Given the description of an element on the screen output the (x, y) to click on. 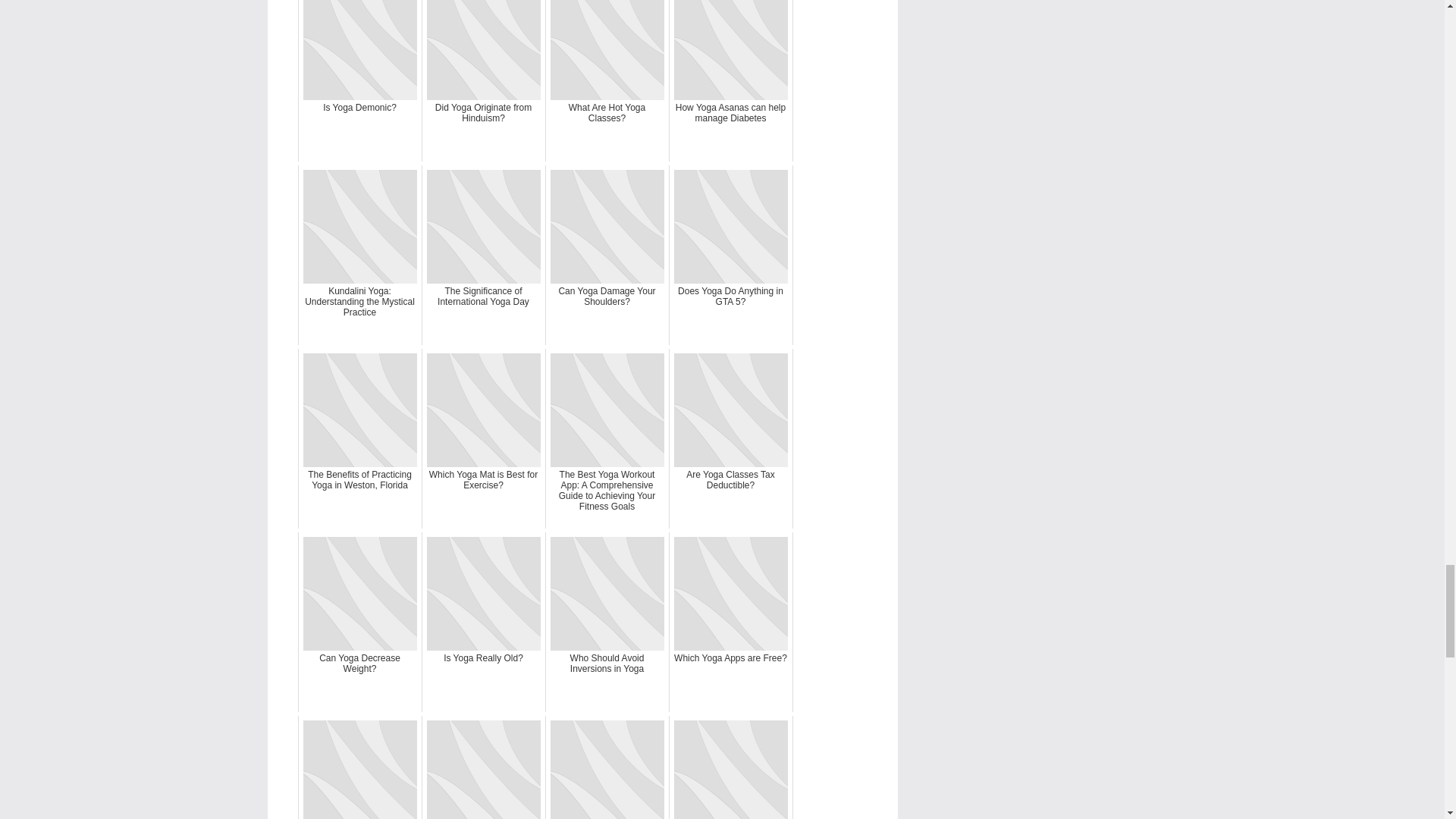
What is the Hardest Yoga Style? (730, 767)
What is Fusion Yoga? (606, 767)
Which Yoga Style is Best for Beginners? (359, 767)
The Benefits of Hot Yoga in Zurich (484, 767)
